Given the description of an element on the screen output the (x, y) to click on. 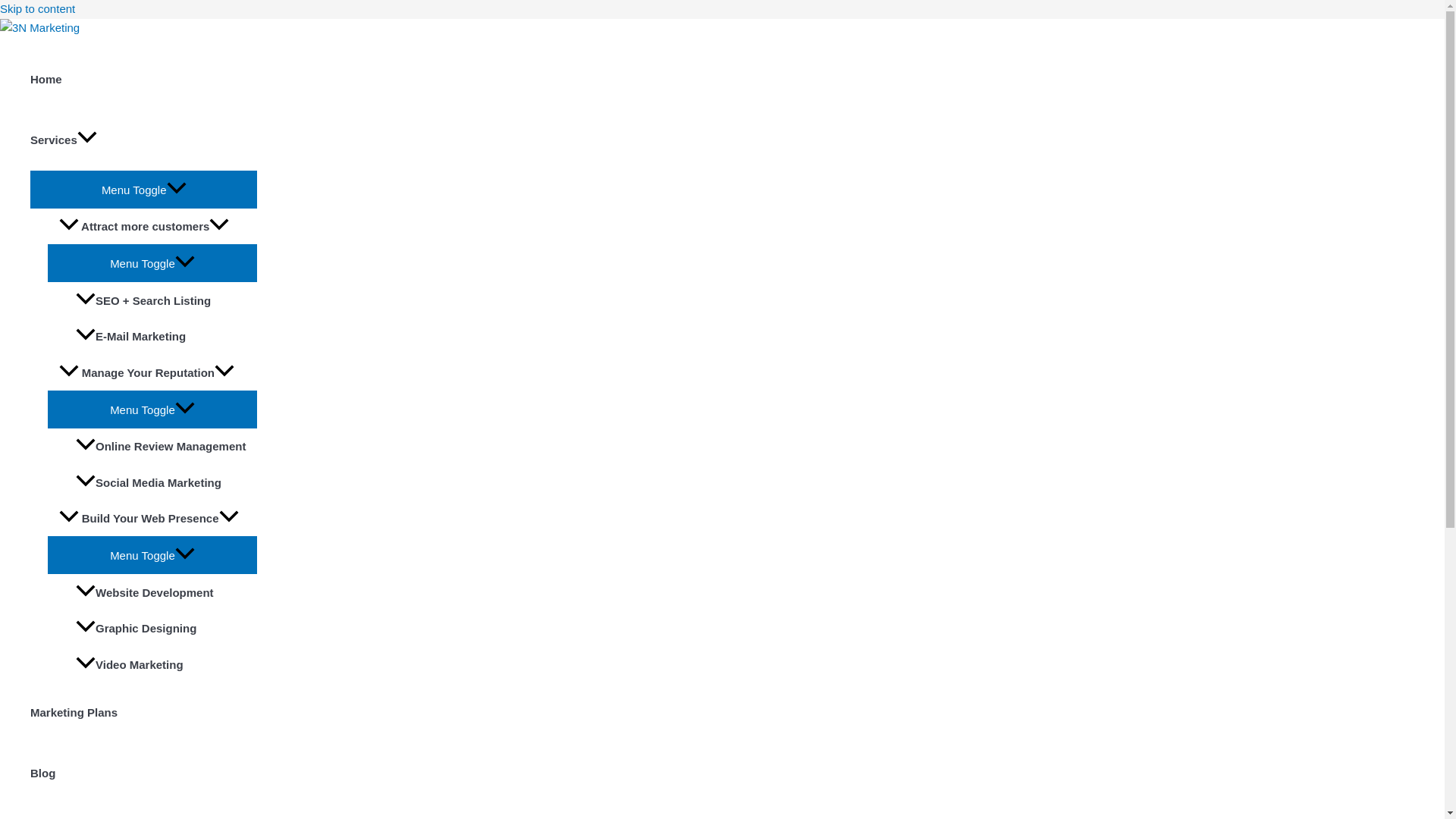
Build Your Web Presence (151, 518)
Video Marketing (160, 664)
Website Development (160, 592)
Menu Toggle (151, 408)
Graphic Designing (160, 628)
Menu Toggle (151, 262)
Menu Toggle (151, 554)
Manage Your Reputation (151, 371)
Home (143, 78)
Blog (143, 772)
Skip to content (37, 8)
Online Review Management (160, 446)
Social Media Marketing (160, 482)
Marketing Plans (143, 712)
Menu Toggle (143, 187)
